Given the description of an element on the screen output the (x, y) to click on. 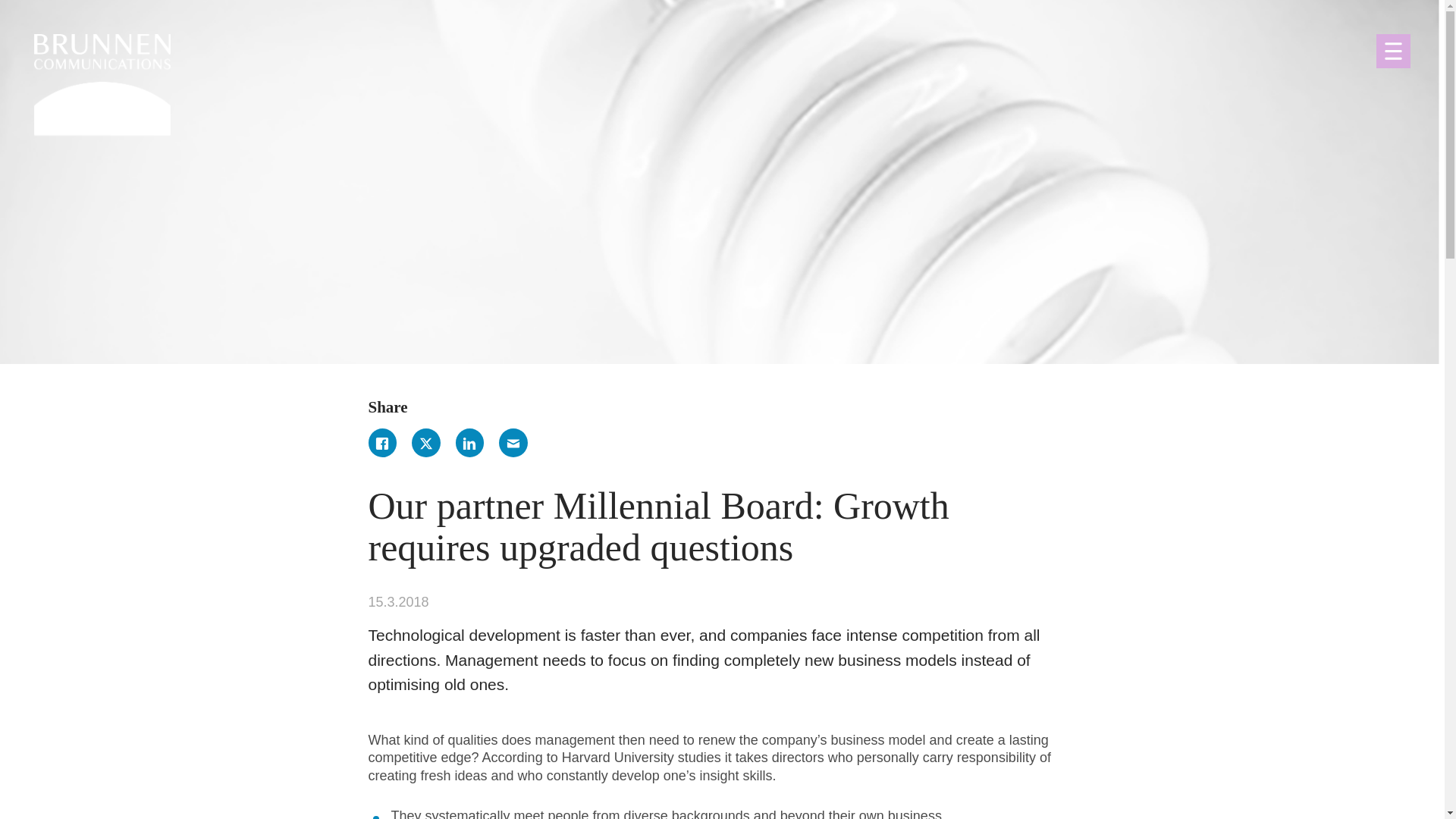
Main Menu (1392, 50)
